Given the description of an element on the screen output the (x, y) to click on. 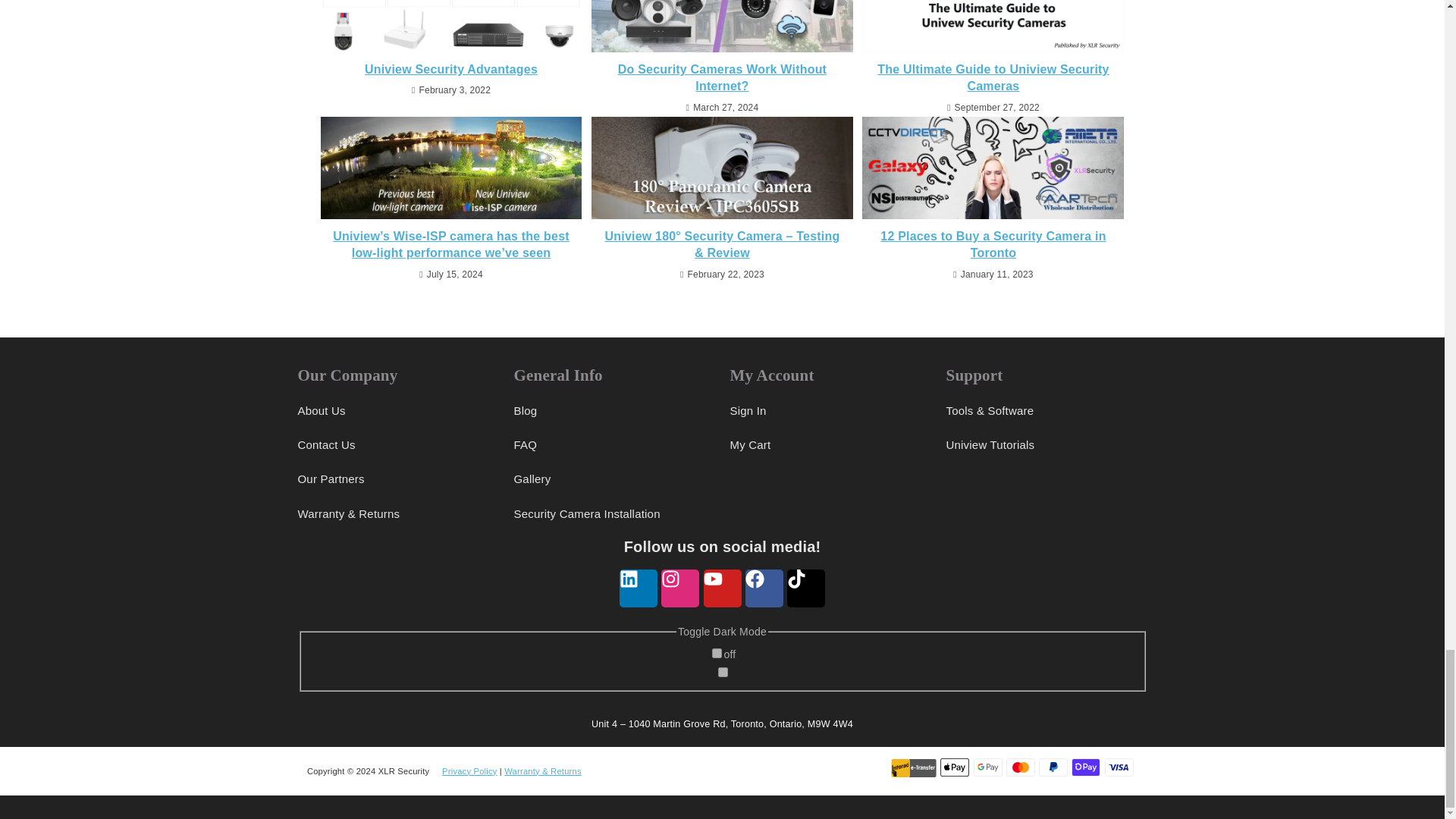
PayPal (1053, 767)
Visa (1117, 767)
Apple Pay (954, 767)
Mastercard (1020, 767)
Google Pay (988, 767)
Shop Pay (1085, 767)
